Given the description of an element on the screen output the (x, y) to click on. 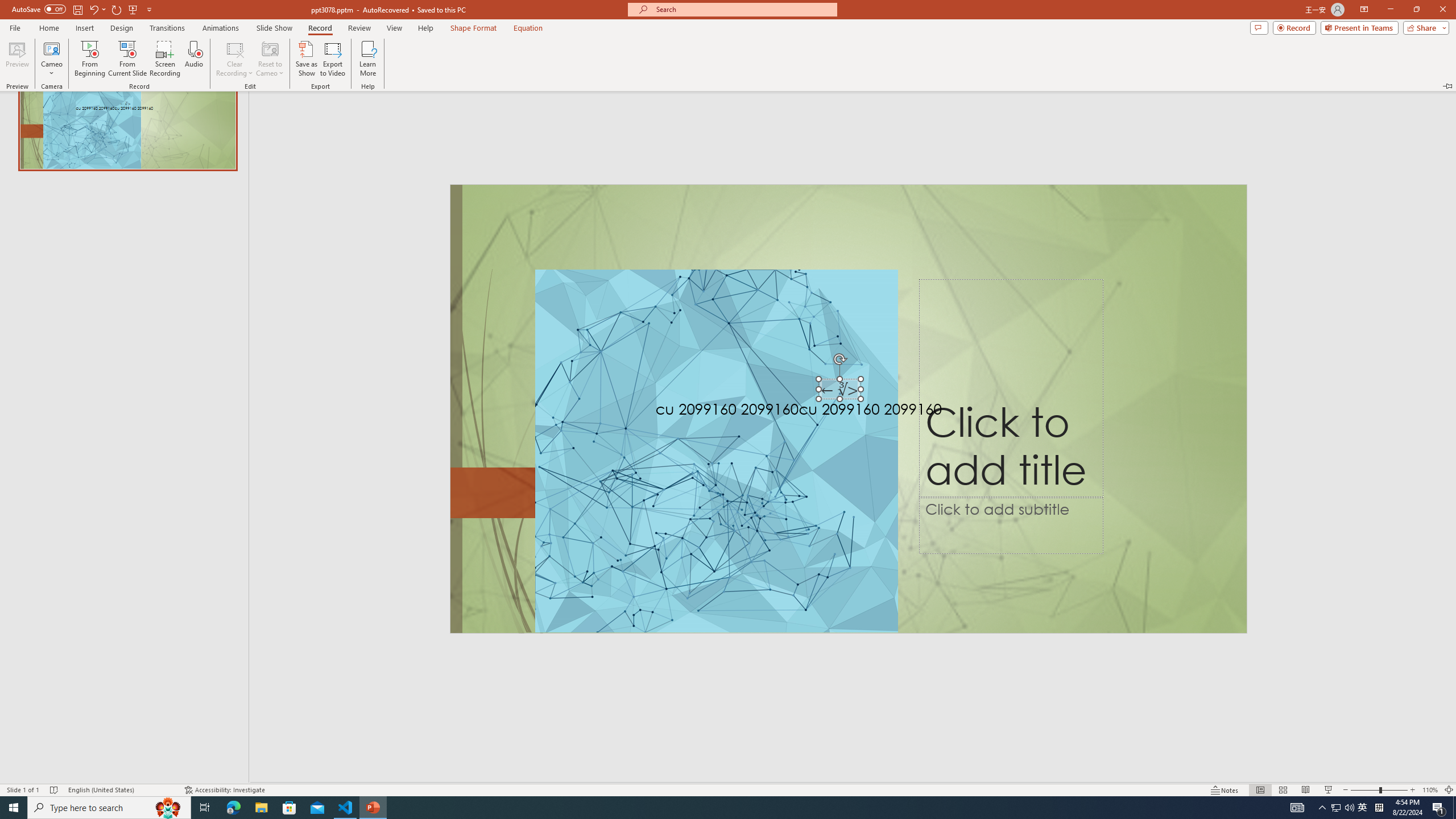
Running applications (707, 807)
Task View (204, 807)
Zoom 110% (1362, 807)
Microsoft Edge (1430, 790)
